Given the description of an element on the screen output the (x, y) to click on. 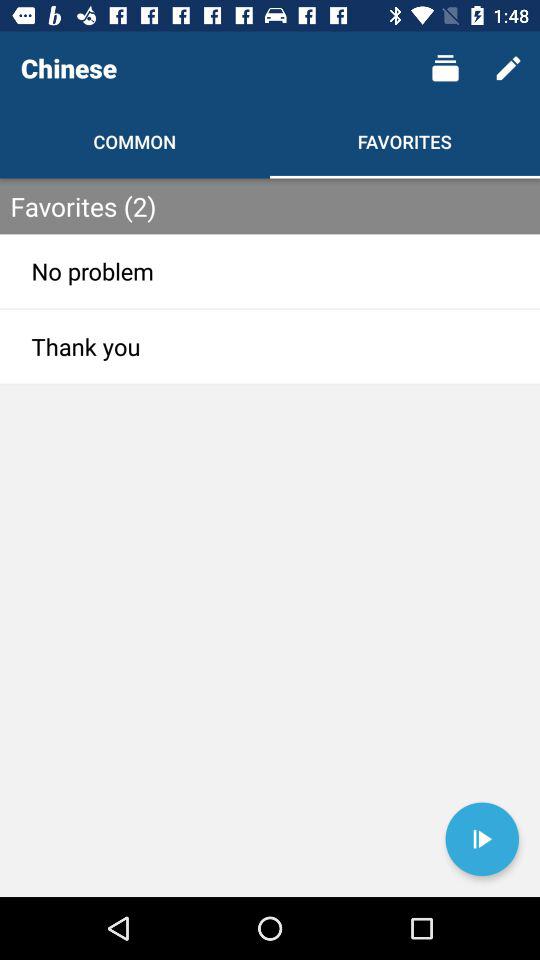
play (482, 839)
